Given the description of an element on the screen output the (x, y) to click on. 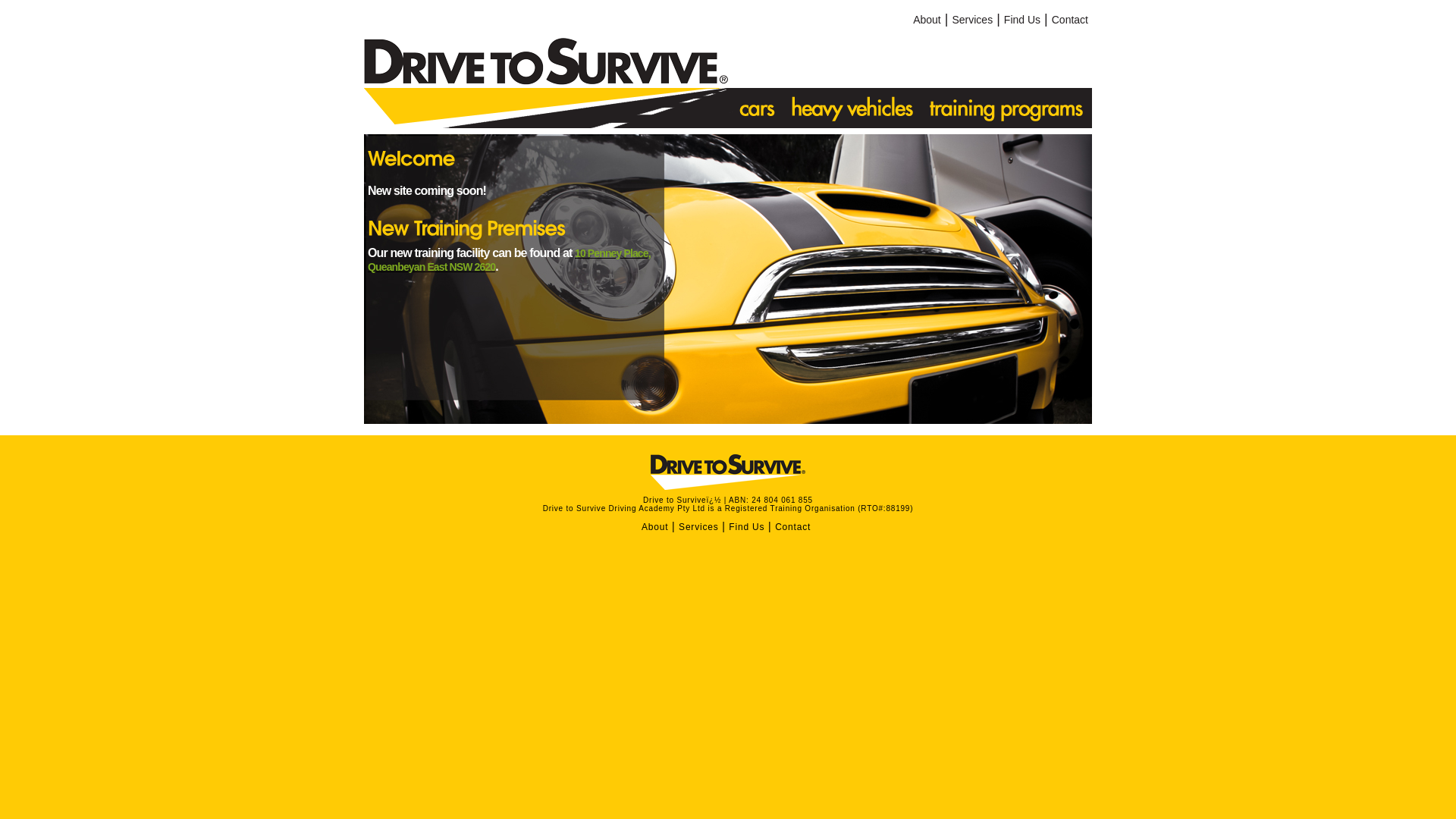
Services Element type: text (698, 526)
Find Us Element type: text (1022, 19)
About Element type: text (654, 526)
Heavy Vehicles Element type: text (852, 107)
10 Penney Place, Queanbeyan East NSW 2620 Element type: text (508, 260)
Training Programs Element type: text (1007, 107)
Home Element type: hover (546, 81)
Services Element type: text (971, 19)
About Element type: text (927, 19)
Cars Element type: text (755, 107)
Contact Element type: text (1069, 19)
Contact Element type: text (792, 526)
Find Us Element type: text (746, 526)
